Given the description of an element on the screen output the (x, y) to click on. 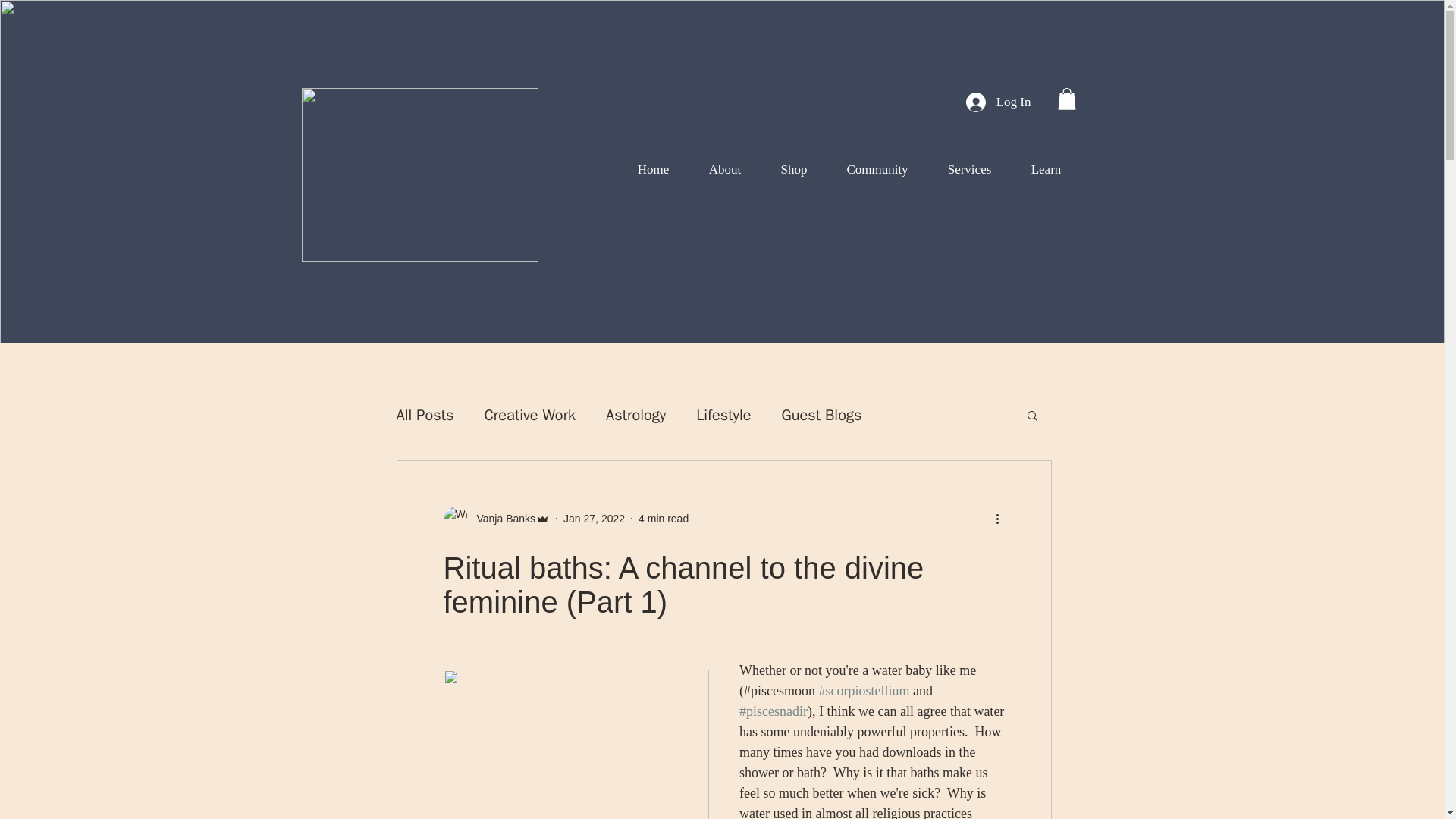
Lifestyle (723, 414)
Log In (998, 102)
Guest Blogs (820, 414)
Jan 27, 2022 (593, 518)
Shop (794, 169)
Vanja Banks (496, 518)
4 min read (663, 518)
Vanja Banks (501, 519)
Services (969, 169)
Community (877, 169)
